Given the description of an element on the screen output the (x, y) to click on. 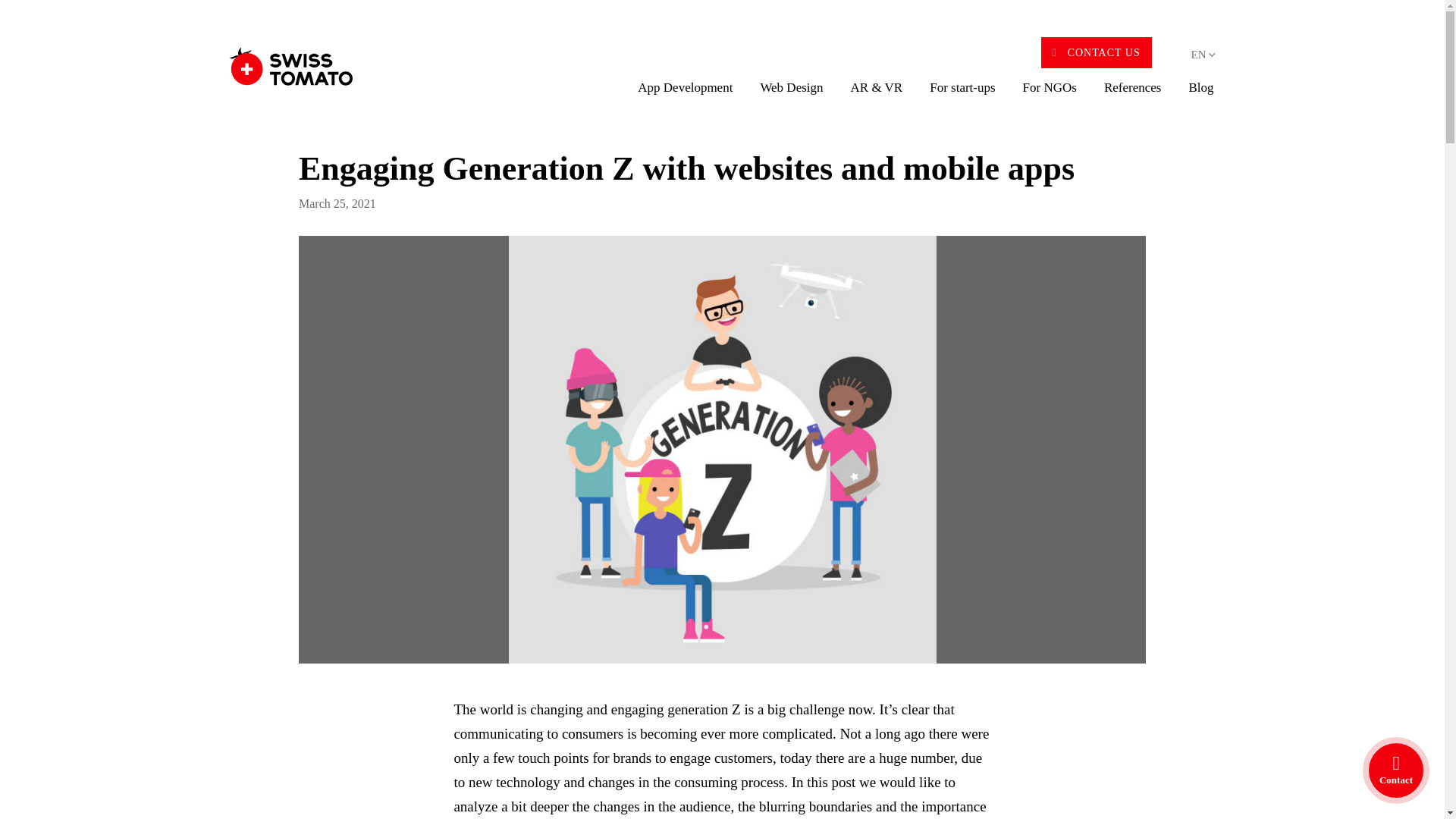
Web Design (791, 95)
Contact (1395, 770)
For NGOs (1050, 95)
App Development (684, 95)
References (1132, 95)
CONTACT US (1096, 51)
For start-ups (961, 95)
